Given the description of an element on the screen output the (x, y) to click on. 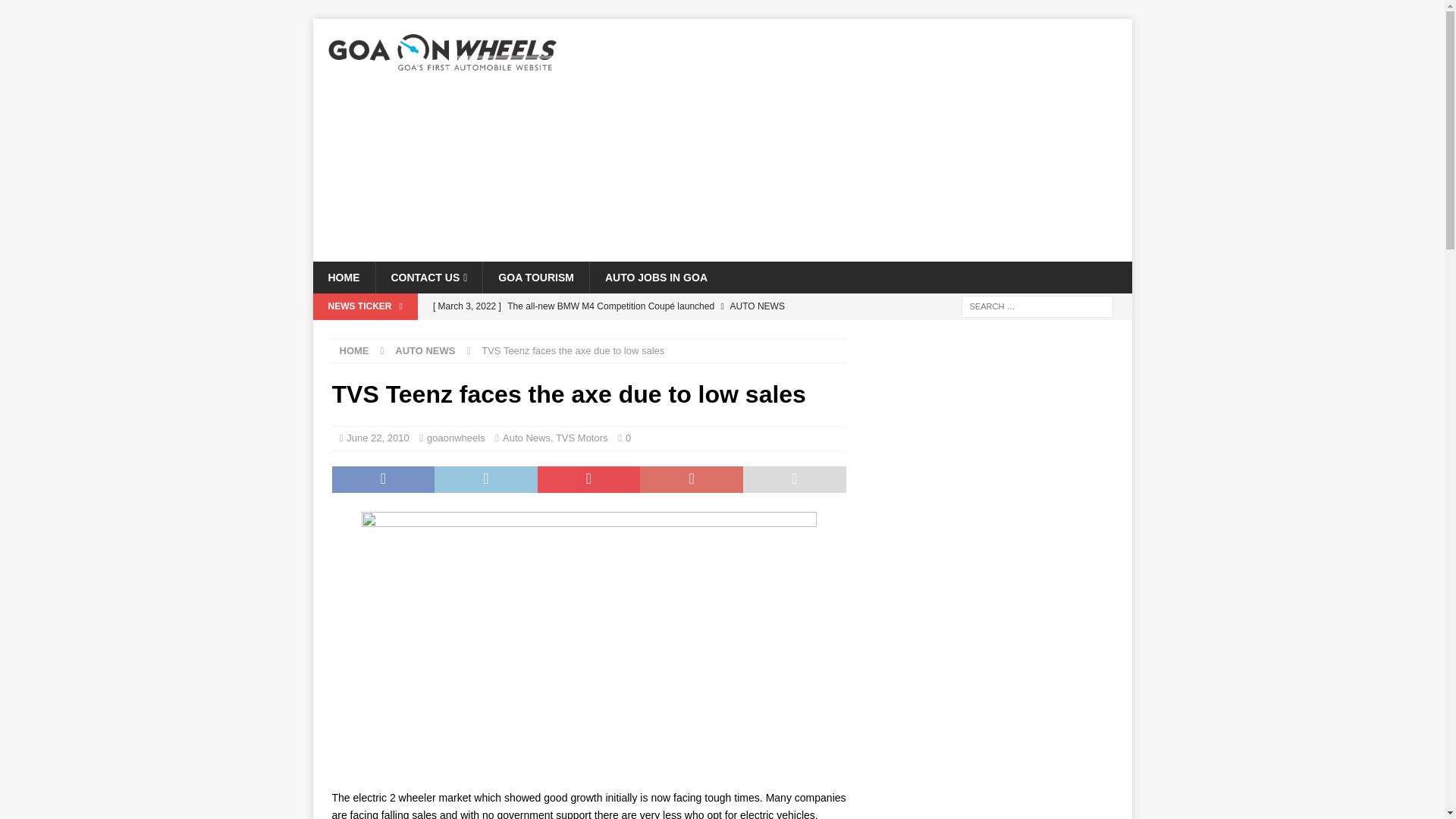
AUTO NEWS (424, 350)
SP Cars appointed as new dealer for Tata Motors Goa (634, 331)
goaonwheels (455, 437)
AUTO JOBS IN GOA (655, 277)
June 22, 2010 (377, 437)
Search (56, 11)
GOA TOURISM (535, 277)
TVS Motors (582, 437)
HOME (354, 350)
Advertisement (854, 140)
